Given the description of an element on the screen output the (x, y) to click on. 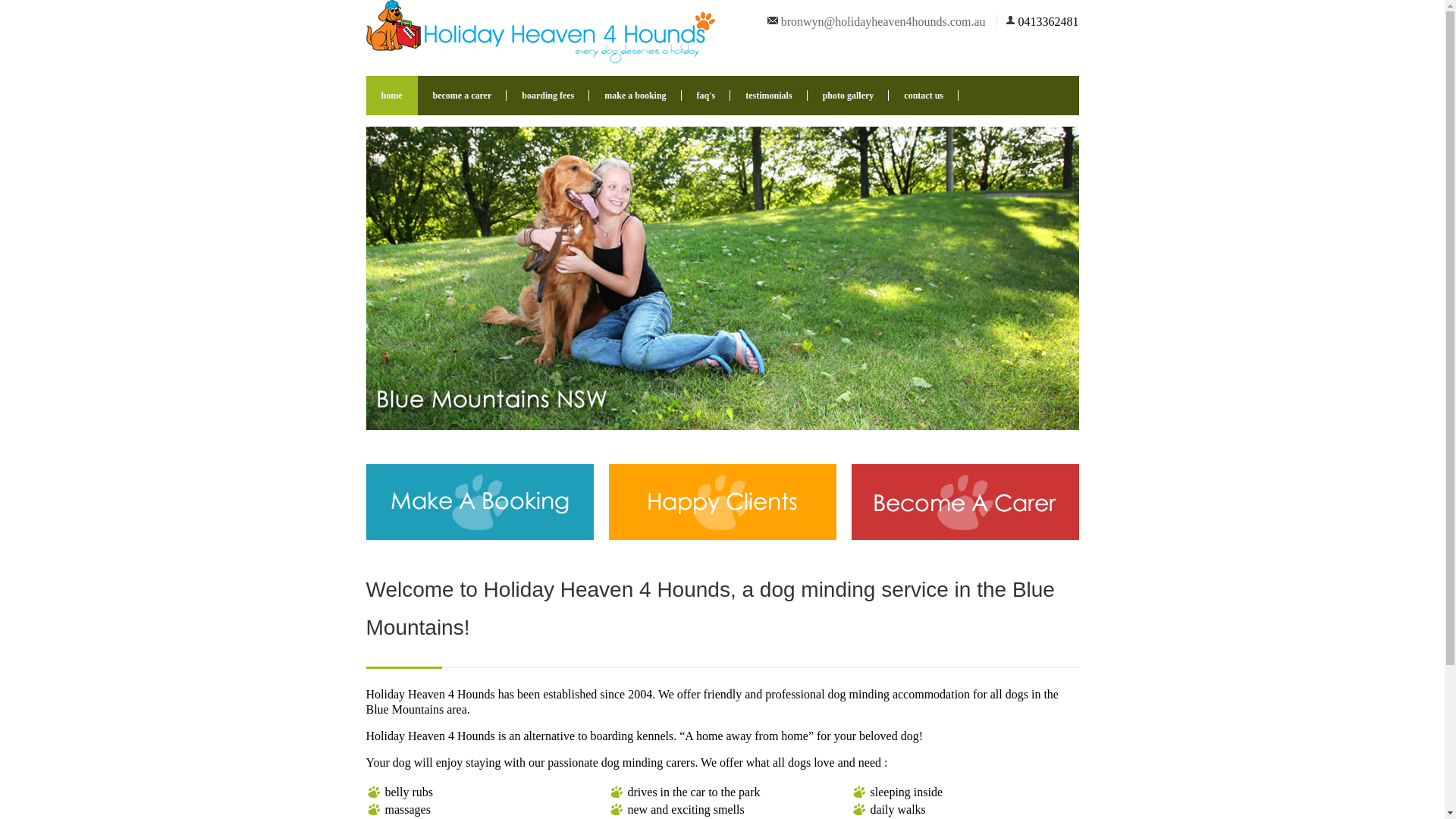
become a carer Element type: text (461, 95)
home Element type: text (391, 95)
bronwyn@holidayheaven4hounds.com.au Element type: text (883, 21)
boarding fees Element type: text (547, 95)
faq's Element type: text (706, 95)
photo gallery Element type: text (848, 95)
contact us Element type: text (923, 95)
make a booking Element type: text (634, 95)
testimonials Element type: text (768, 95)
